Given the description of an element on the screen output the (x, y) to click on. 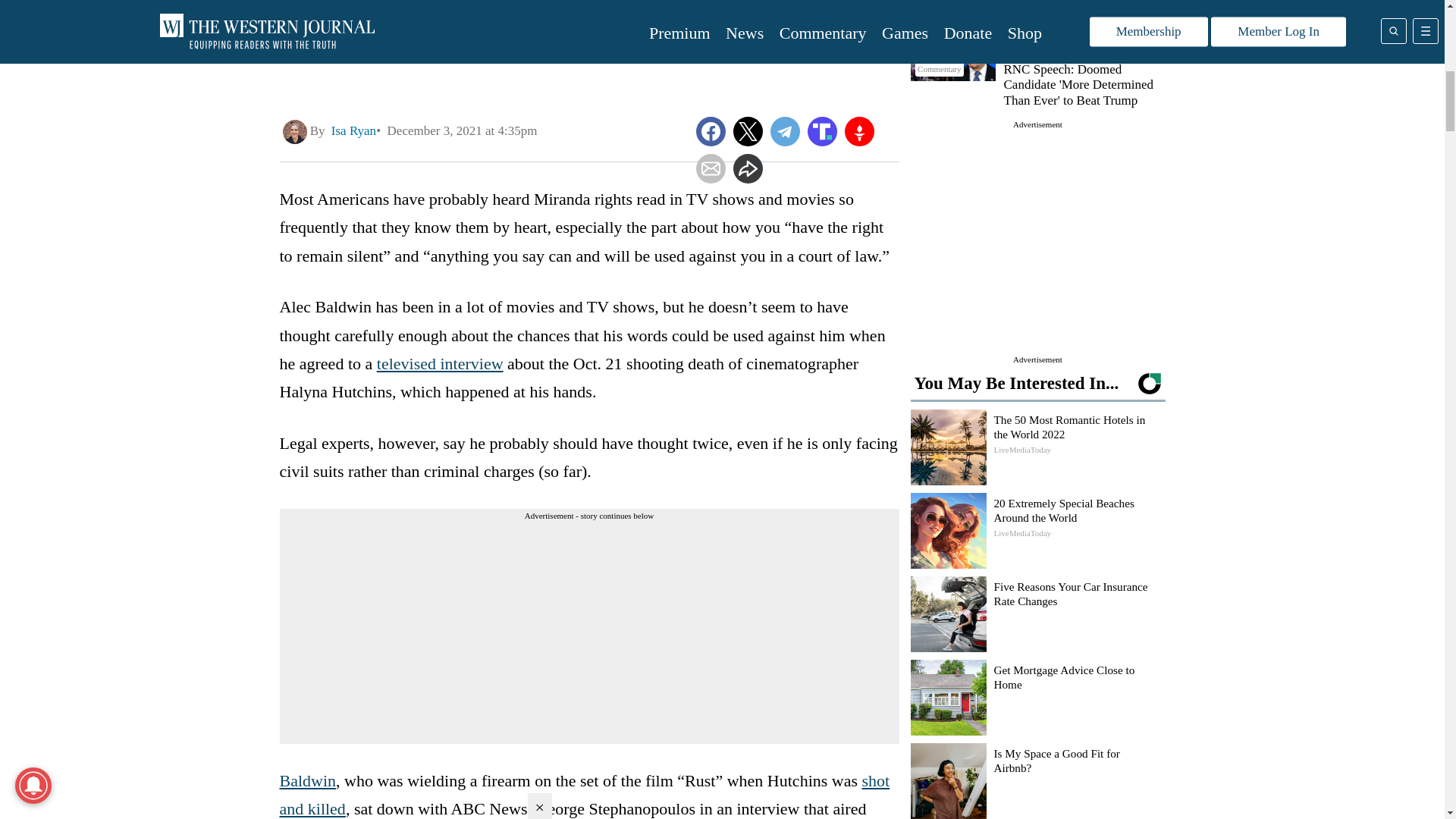
3rd party ad content (1037, 226)
